Given the description of an element on the screen output the (x, y) to click on. 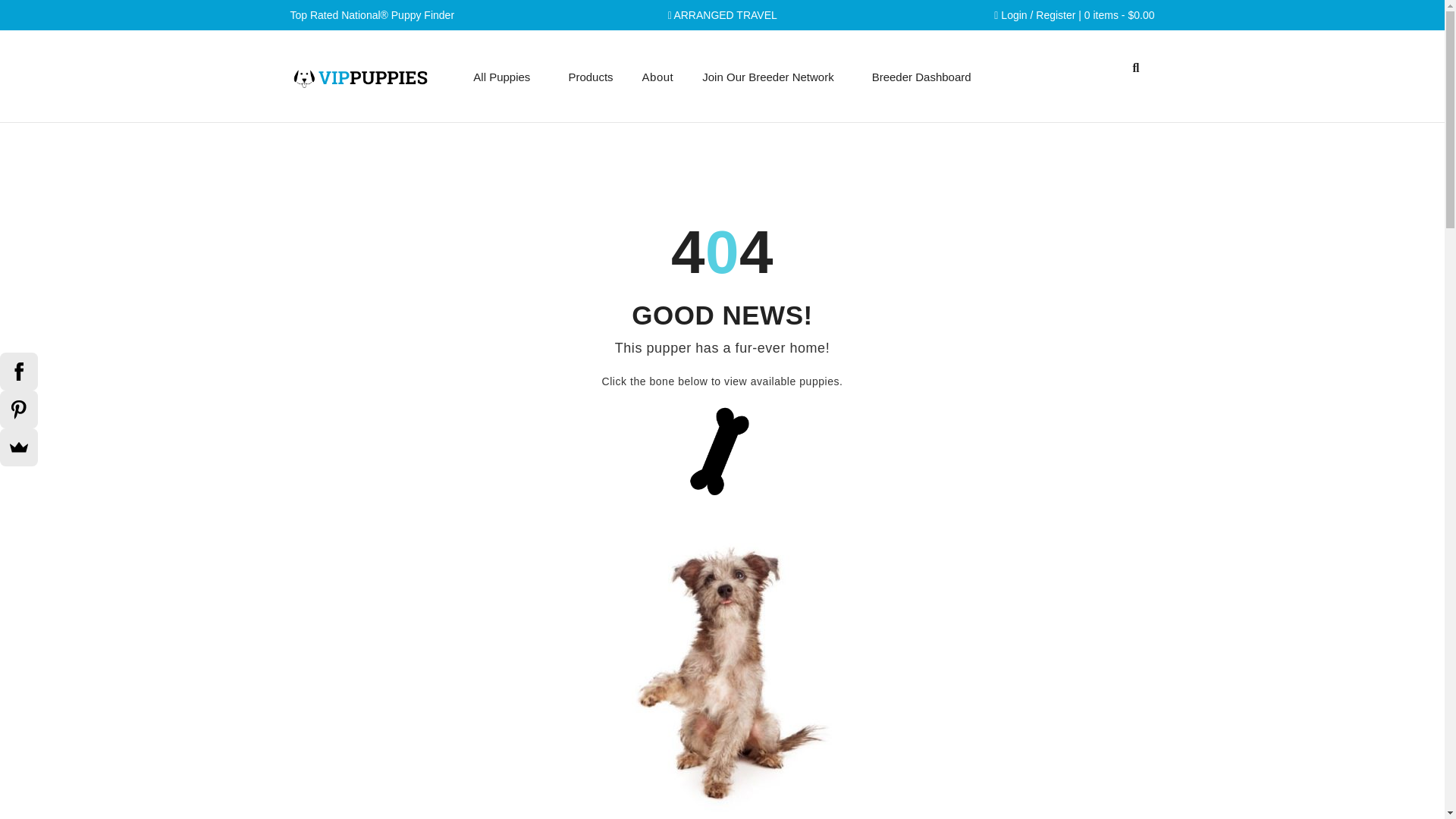
Join Our Breeder Network (766, 76)
View your shopping cart (1119, 15)
SumoMe (18, 447)
Pinterest (18, 409)
SMALL DOG BREEDS (722, 740)
Facebook (18, 371)
All Puppies (501, 76)
Products (589, 76)
Breeder Dashboard (921, 76)
